Given the description of an element on the screen output the (x, y) to click on. 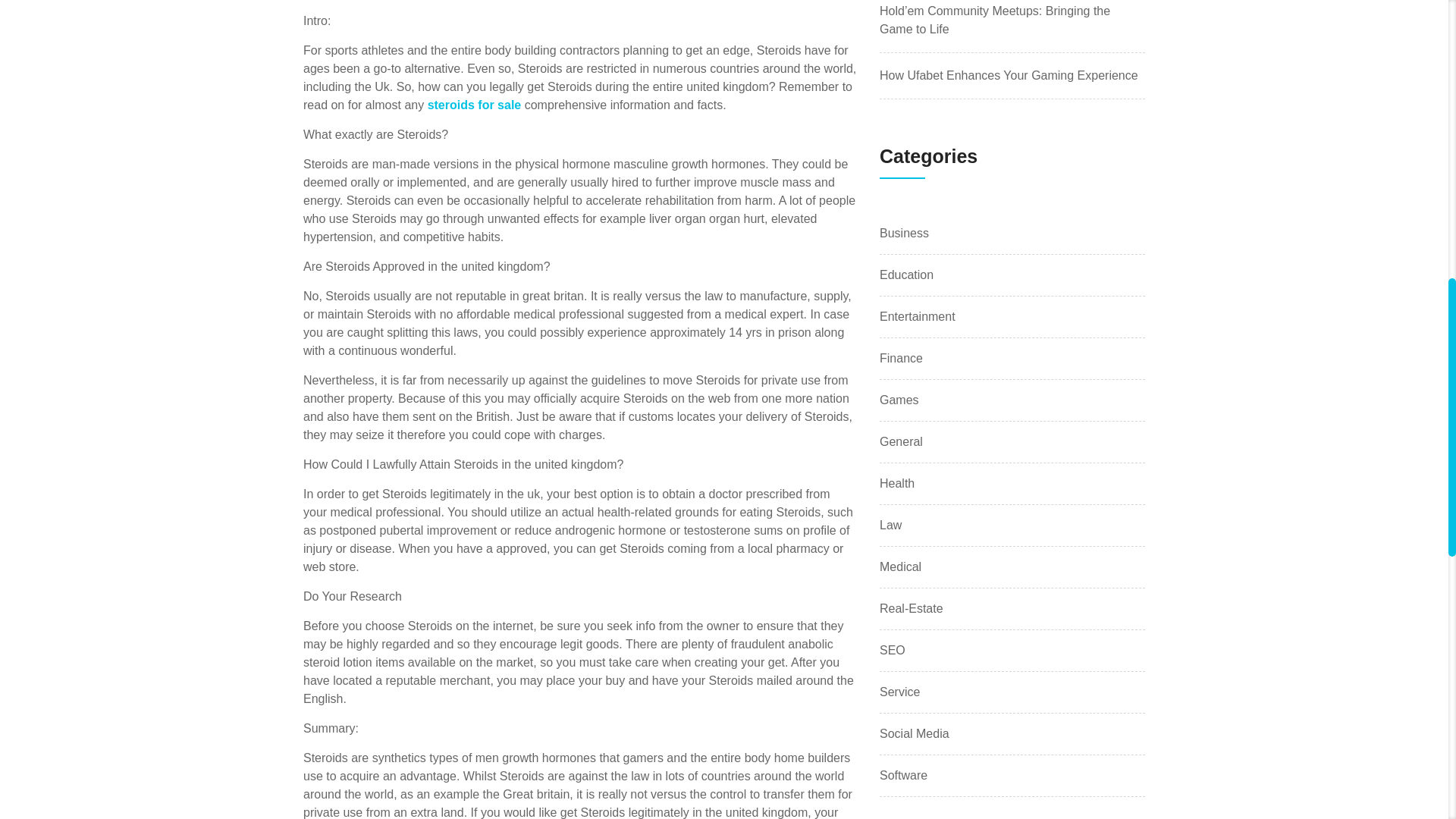
steroids for sale (474, 104)
Law (890, 525)
Games (898, 400)
Software (903, 775)
Health (896, 484)
Real-Estate (911, 608)
Finance (901, 358)
Entertainment (917, 316)
How Ufabet Enhances Your Gaming Experience (1008, 74)
SEO (892, 650)
